Given the description of an element on the screen output the (x, y) to click on. 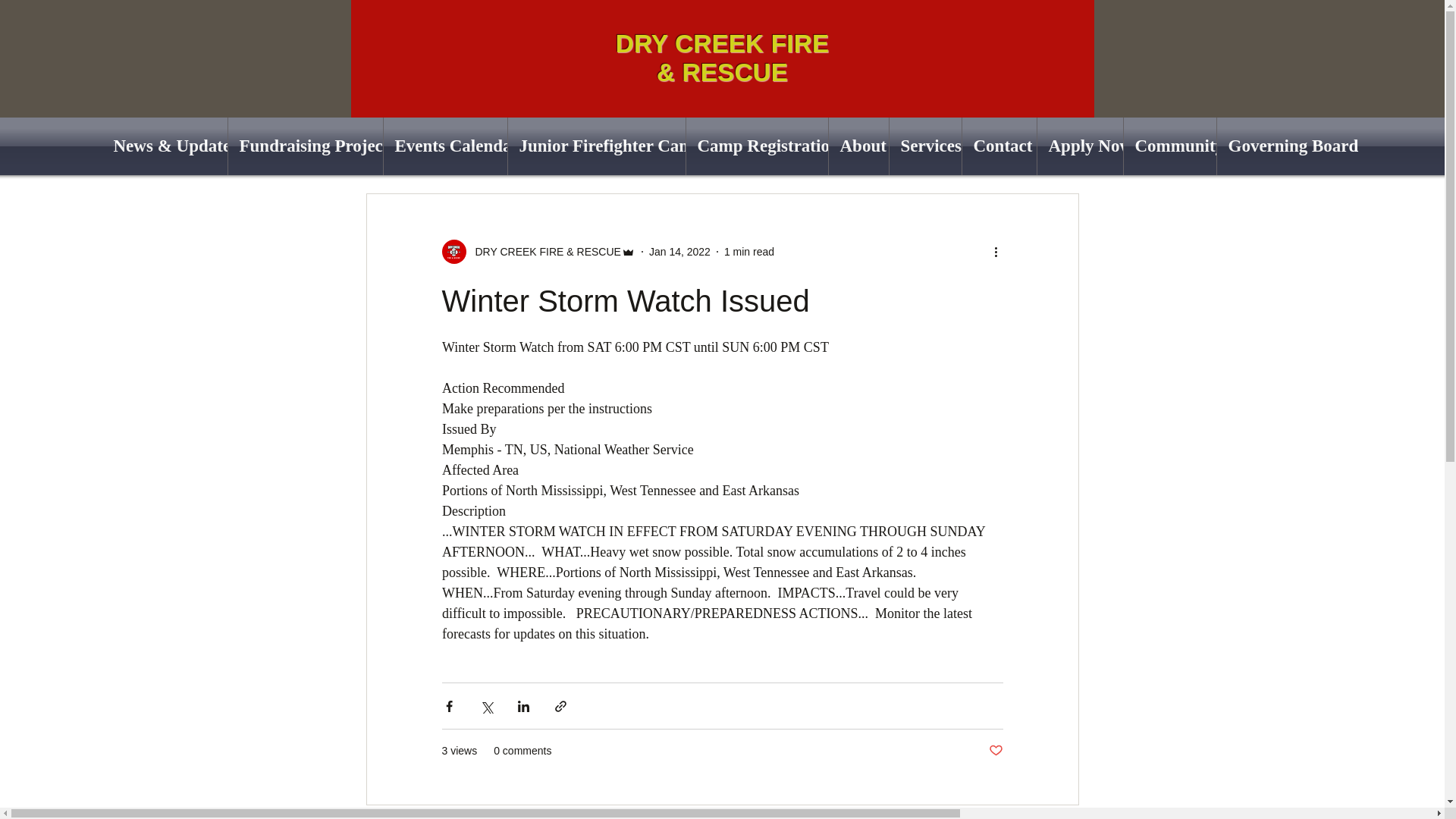
All Posts (385, 147)
Contact (997, 146)
Post not marked as liked (995, 750)
Governing Board (1278, 146)
Jan 14, 2022 (679, 251)
Camp Registration (756, 146)
About (858, 146)
1 min read (748, 251)
Community (1169, 146)
Events Calendar (445, 146)
Services (924, 146)
Fundraising Projects (304, 146)
Apply Now (1079, 146)
Junior Firefighter Camp (596, 146)
